Given the description of an element on the screen output the (x, y) to click on. 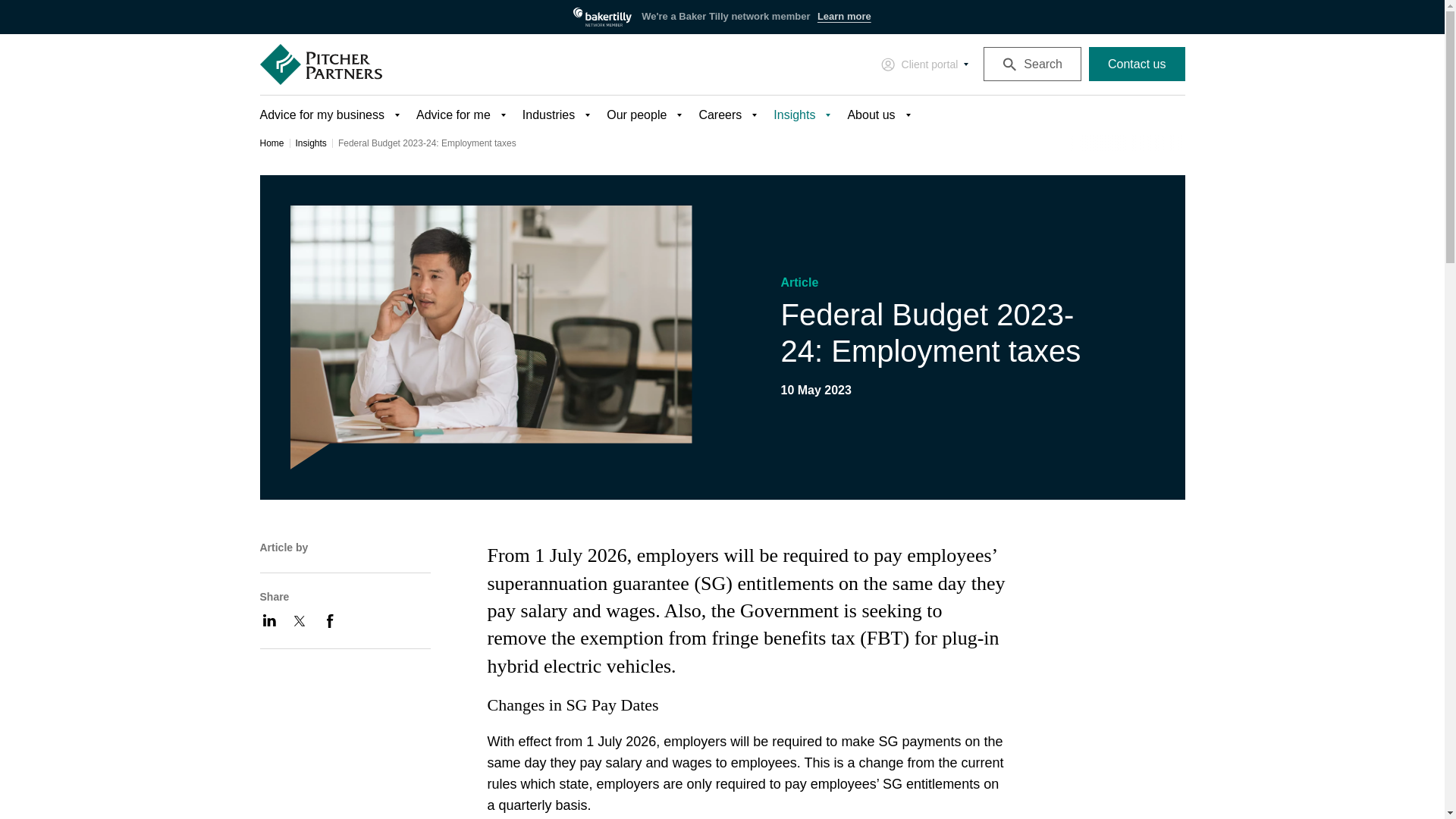
Facebook (328, 620)
LinkedIn (268, 620)
Twitter (298, 620)
Learn more (843, 16)
